Given the description of an element on the screen output the (x, y) to click on. 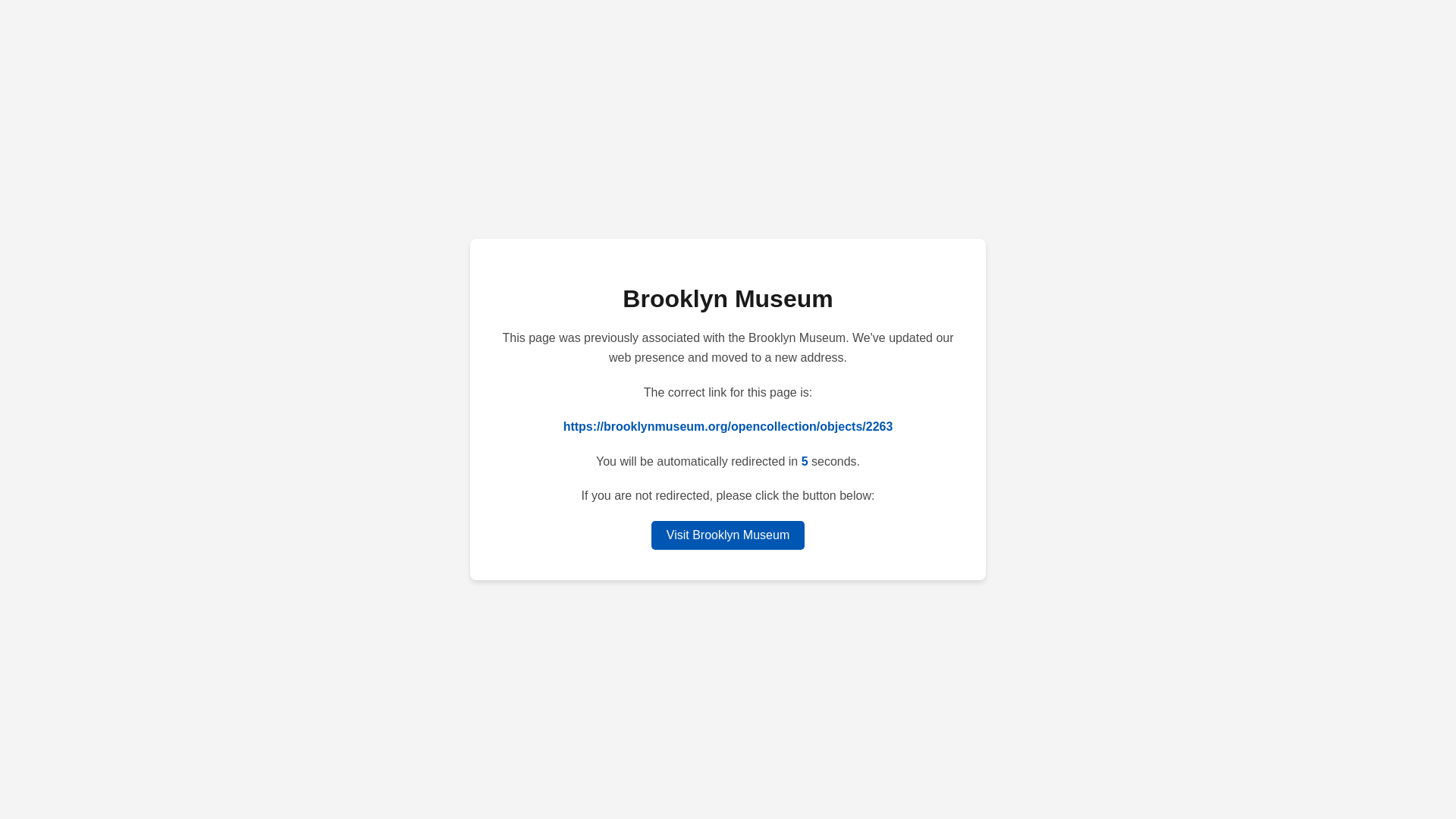
Visit Brooklyn Museum (727, 534)
